Given the description of an element on the screen output the (x, y) to click on. 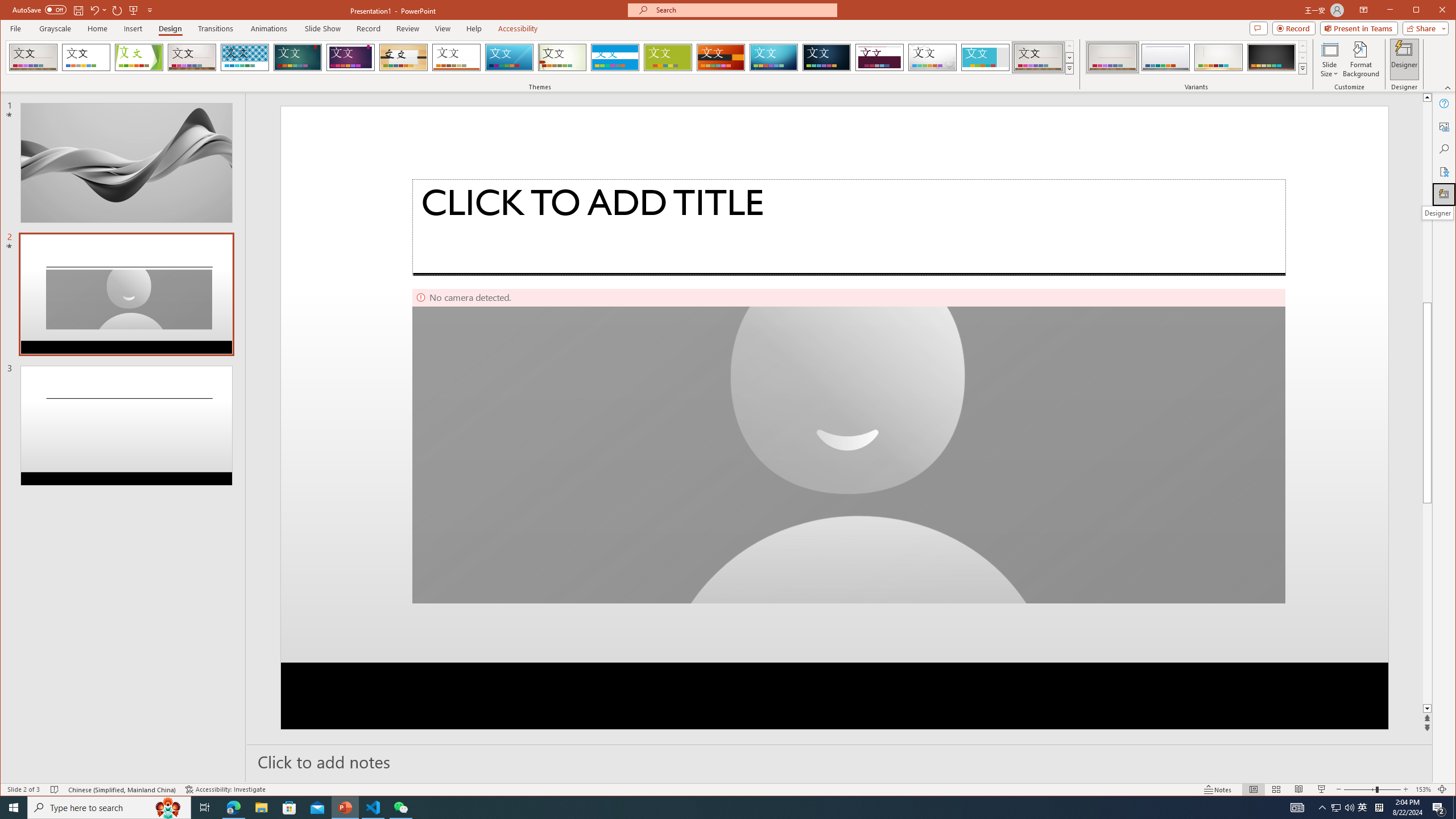
Office Theme (85, 57)
AutomationID: SlideThemesGallery (540, 57)
Banded (615, 57)
